Given the description of an element on the screen output the (x, y) to click on. 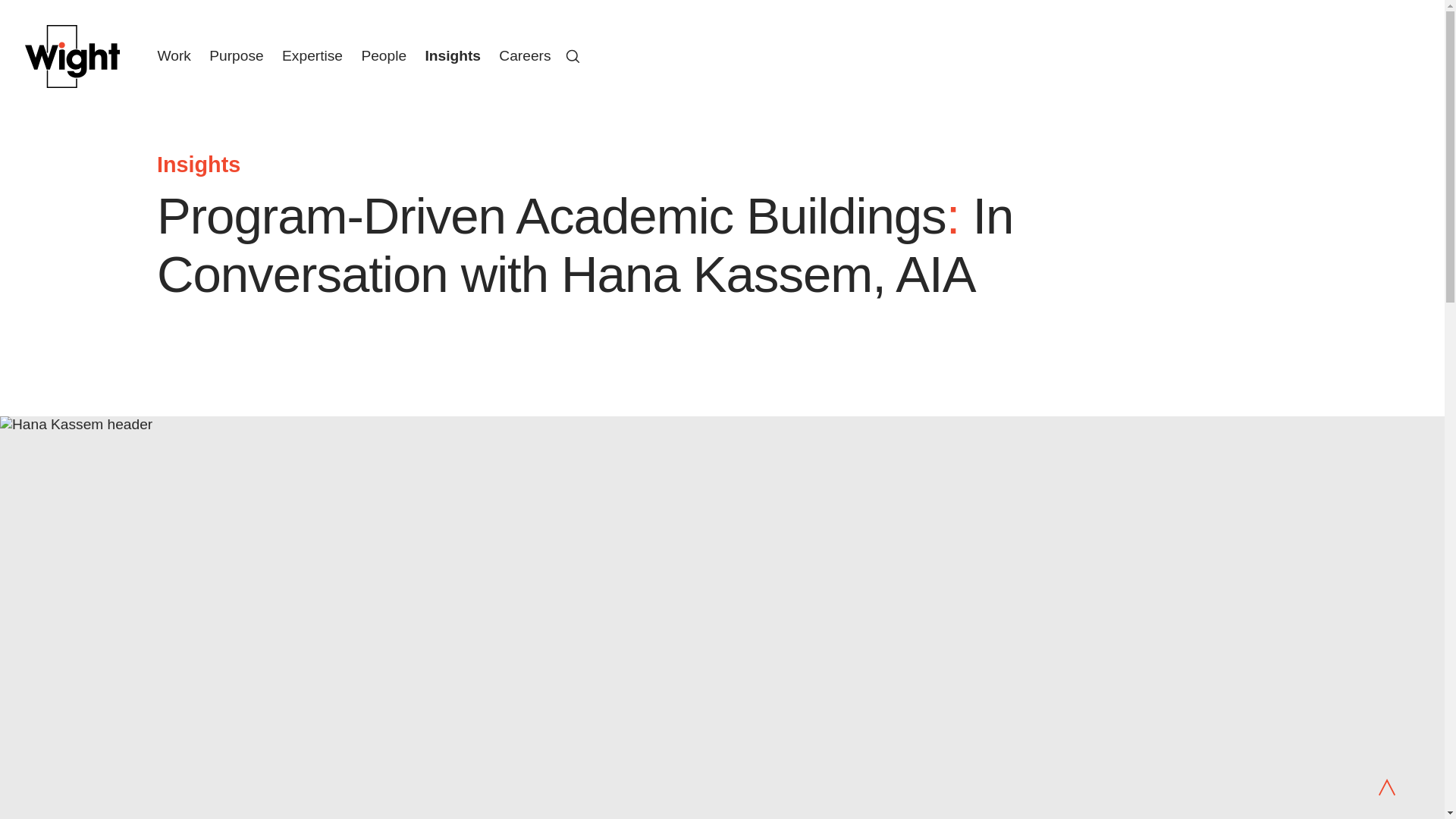
People (383, 55)
Work (173, 55)
Careers (524, 55)
Purpose (236, 55)
Insights (452, 55)
Expertise (312, 55)
